Given the description of an element on the screen output the (x, y) to click on. 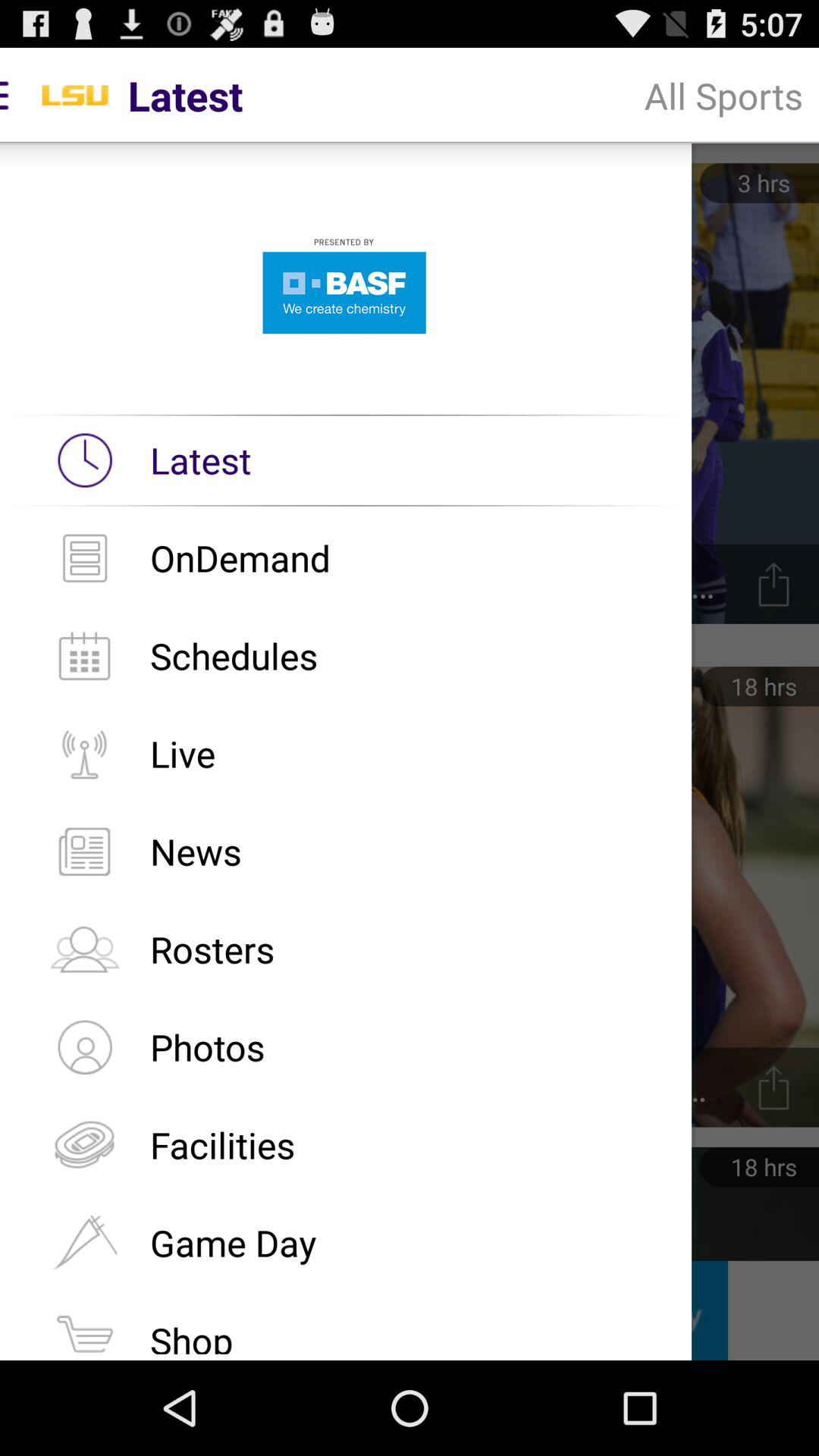
select the symbol which is left to facilities (84, 1144)
click on the symbol to the right of text ondemand succeding three dots (773, 584)
